Given the description of an element on the screen output the (x, y) to click on. 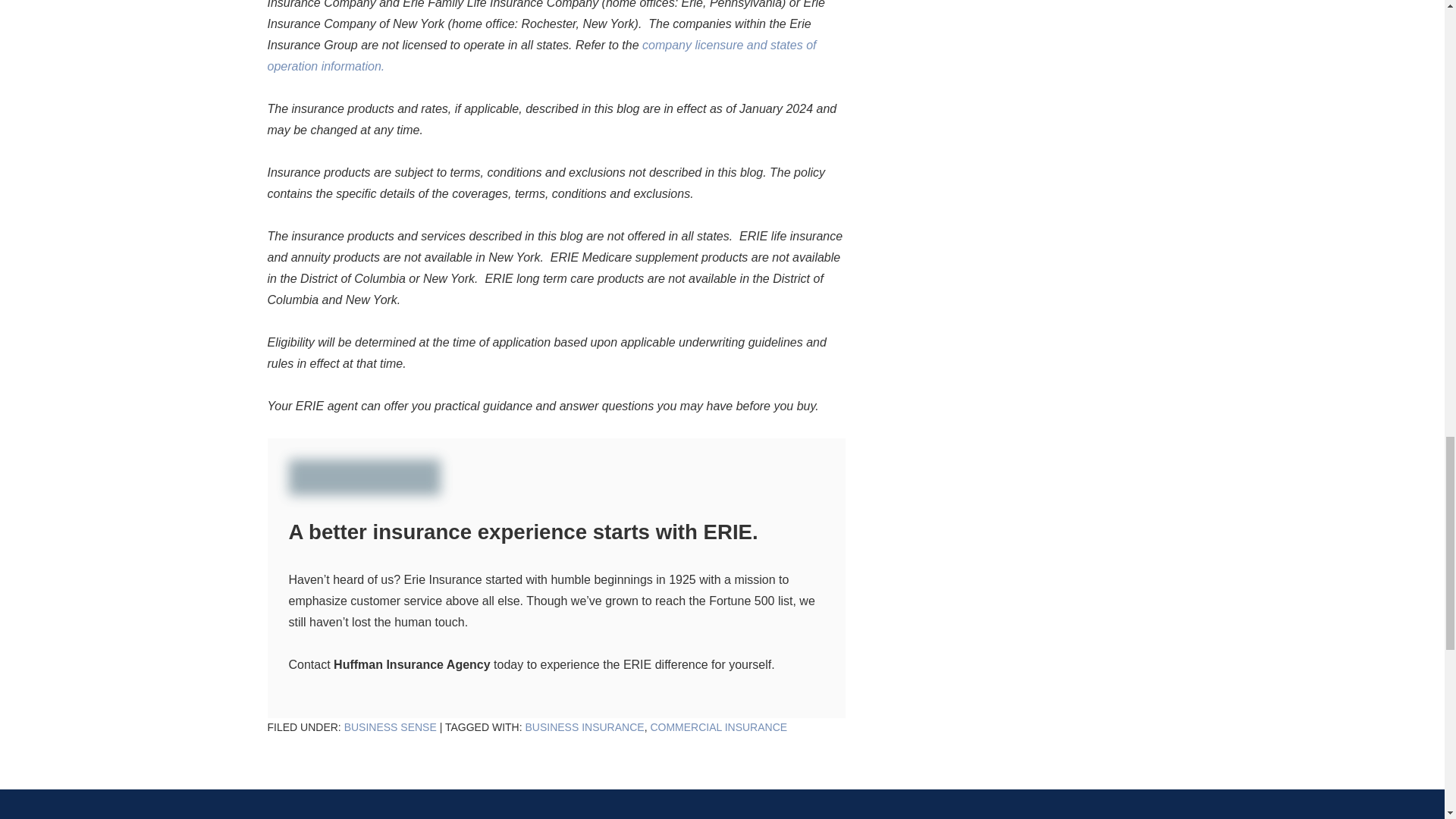
Business Insurance (583, 727)
Commercial Insurance (718, 727)
Business Sense (389, 727)
